Given the description of an element on the screen output the (x, y) to click on. 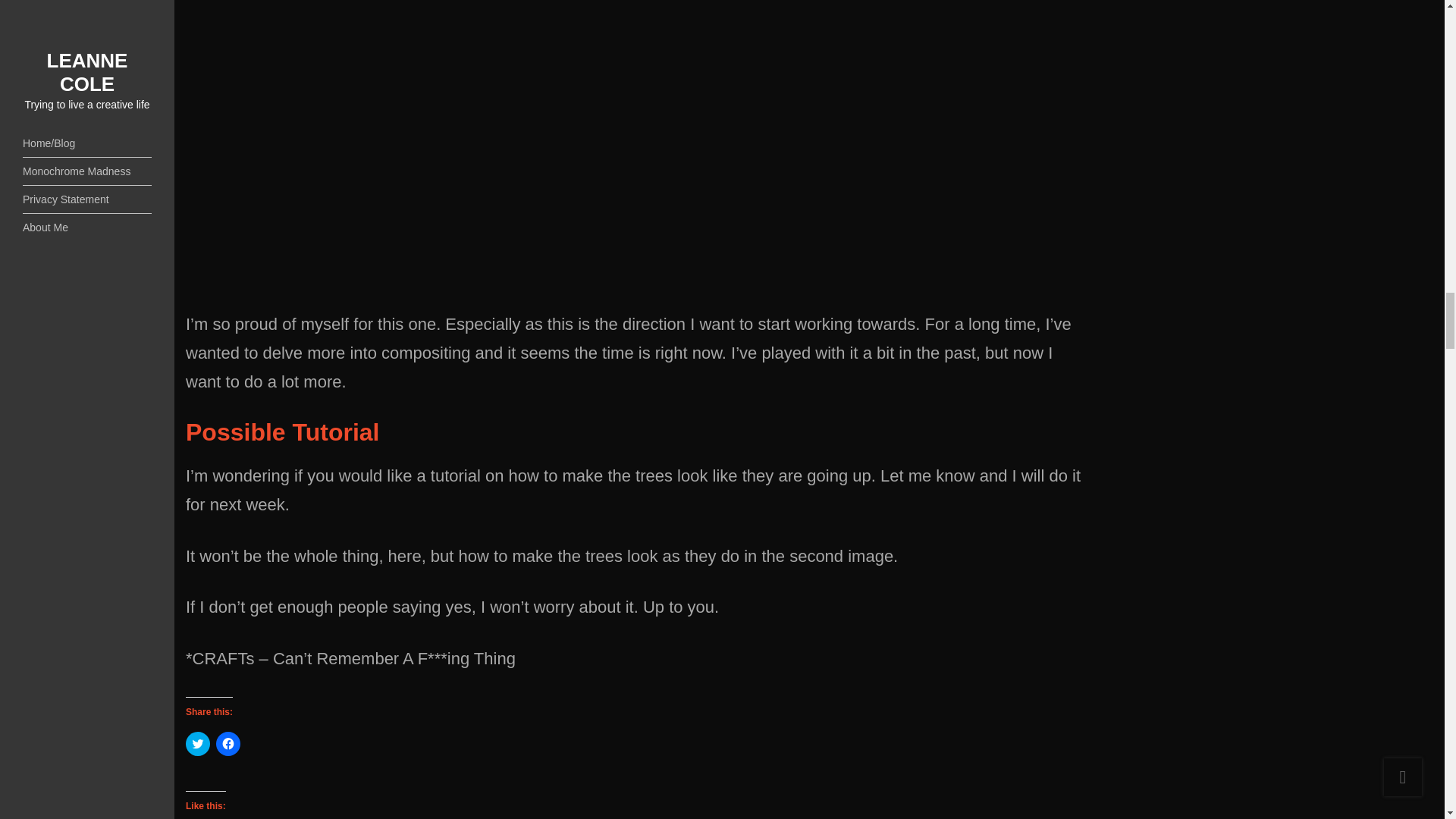
Click to share on Facebook (227, 743)
Click to share on Twitter (197, 743)
